Given the description of an element on the screen output the (x, y) to click on. 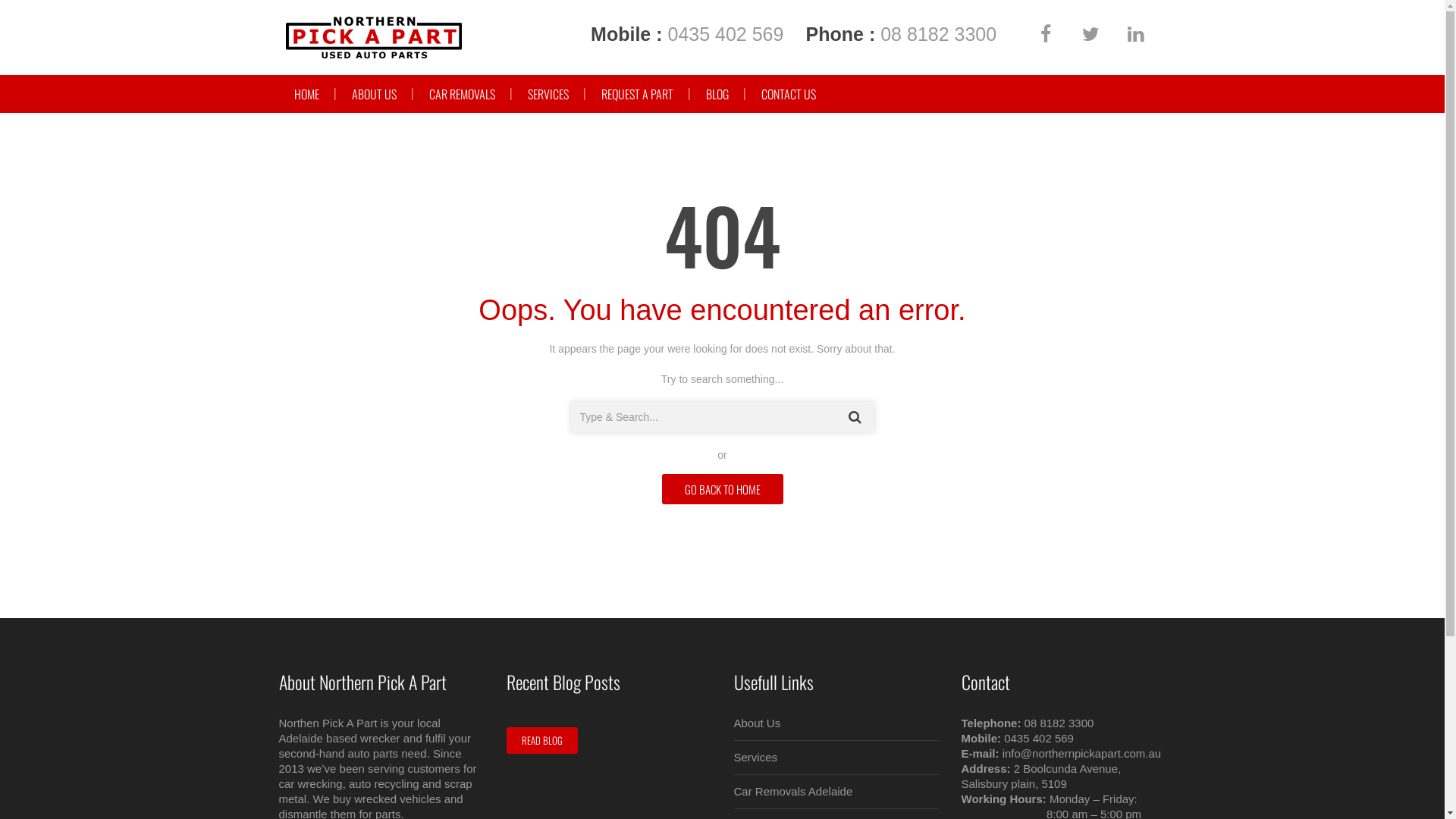
CAR REMOVALS Element type: text (462, 93)
Car Removals Adelaide Element type: text (793, 790)
BLOG Element type: text (716, 93)
About Us Element type: text (757, 722)
Services Element type: text (756, 756)
CONTACT US Element type: text (788, 93)
ABOUT US Element type: text (373, 93)
info@northernpickapart.com.au Element type: text (1081, 752)
GO BACK TO HOME Element type: text (721, 488)
HOME Element type: text (306, 93)
0435 402 569 Element type: text (1038, 737)
08 8182 3300 Element type: text (1059, 722)
0435 402 569 Element type: text (725, 33)
08 8182 3300 Element type: text (938, 33)
REQUEST A PART Element type: text (636, 93)
READ BLOG Element type: text (541, 740)
SERVICES Element type: text (547, 93)
